Given the description of an element on the screen output the (x, y) to click on. 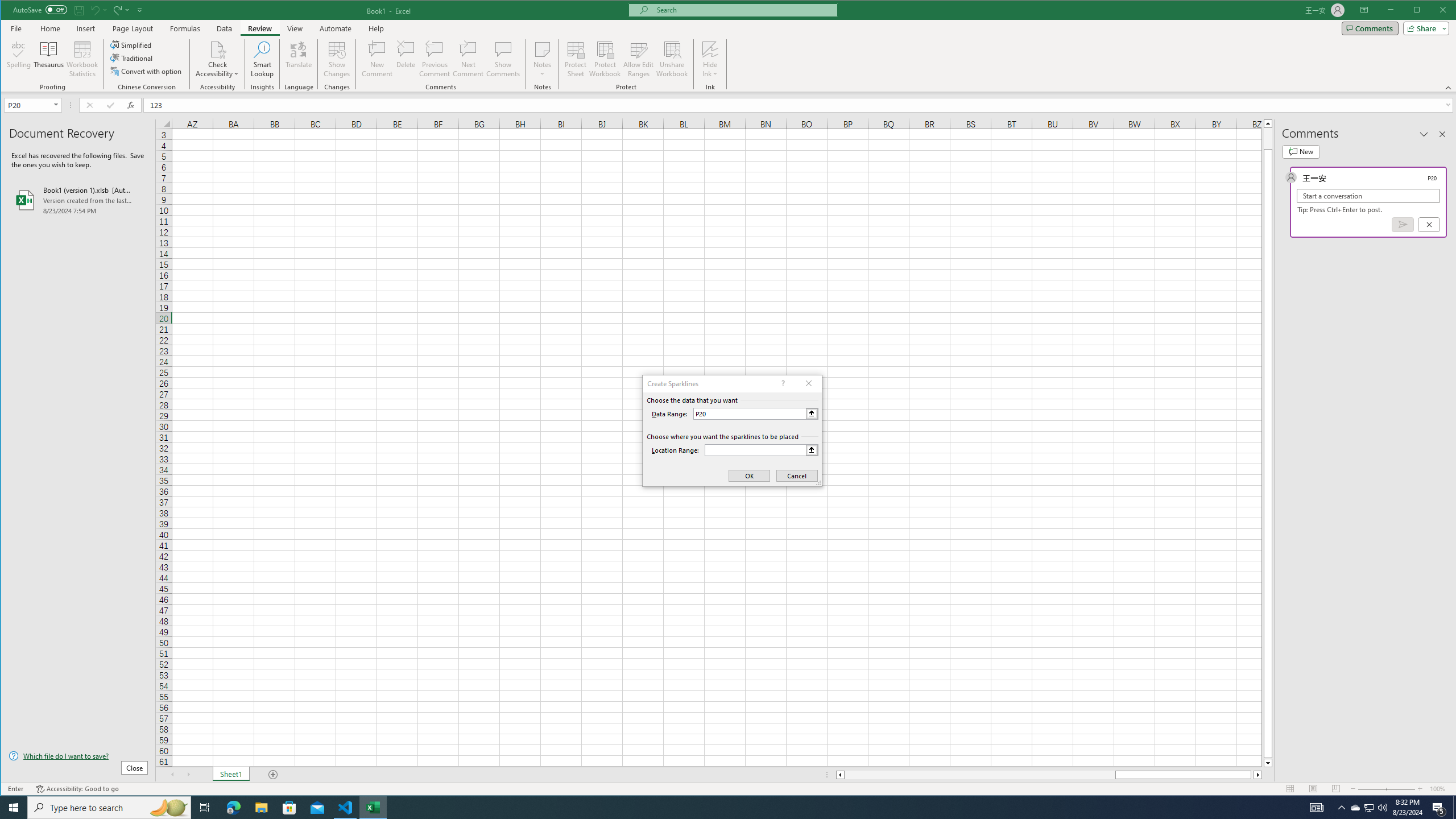
File Tab (16, 27)
Zoom (1386, 788)
Open (56, 105)
Show Changes (335, 59)
Hide Ink (710, 48)
Formulas (184, 28)
Simplified (132, 44)
Show Comments (502, 59)
Help (376, 28)
Add Sheet (272, 774)
Task Pane Options (1423, 133)
